Given the description of an element on the screen output the (x, y) to click on. 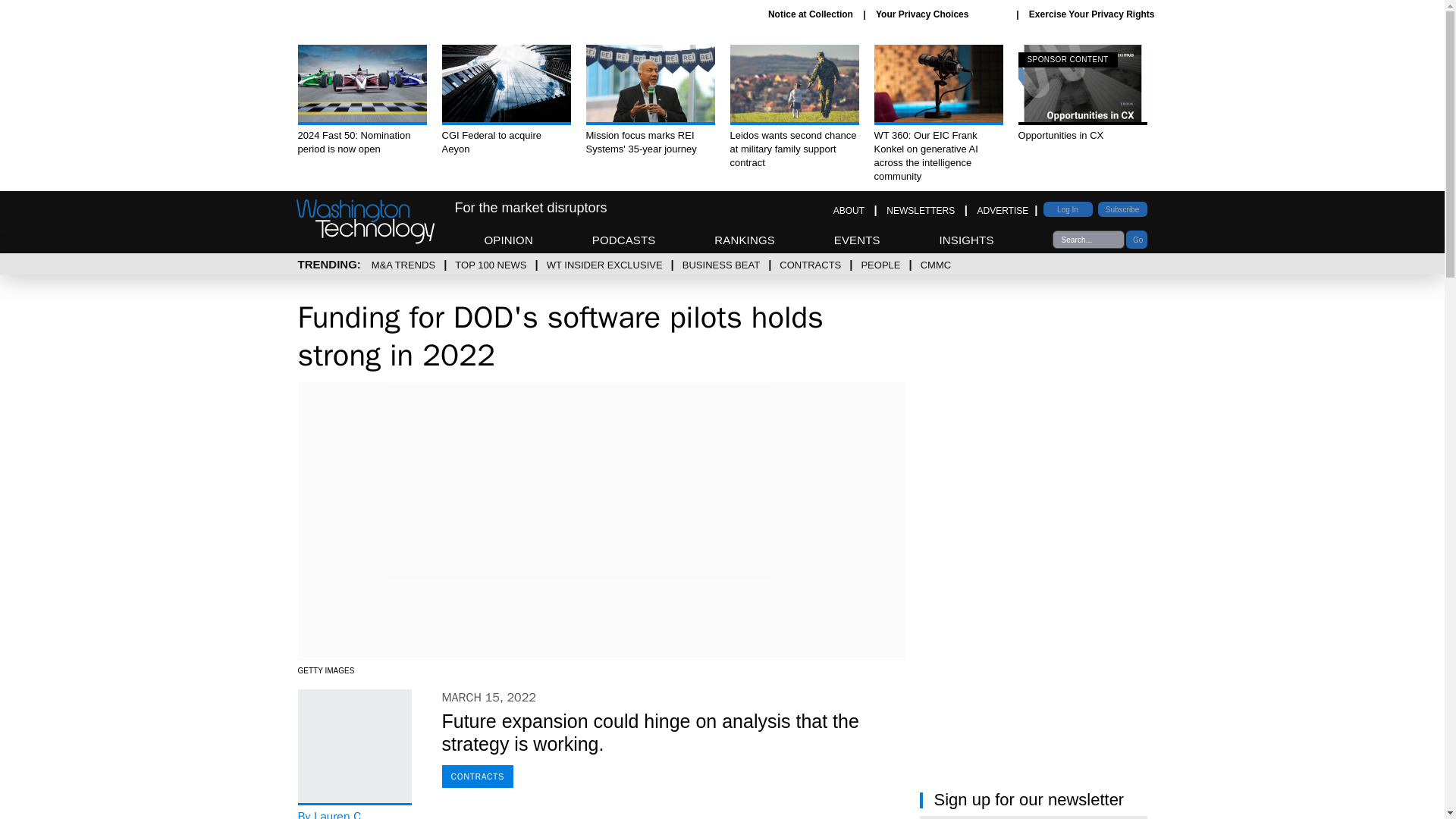
INSIGHTS (966, 239)
ADVERTISE (1001, 210)
CGI Federal to acquire Aeyon (505, 100)
RANKINGS (1082, 93)
PODCASTS (744, 239)
2024 Fast 50: Nomination period is now open (624, 239)
ABOUT (361, 100)
Your Privacy Choices (848, 210)
Notice at Collection (941, 14)
EVENTS (810, 14)
NEWSLETTERS (857, 239)
Go (920, 210)
